Given the description of an element on the screen output the (x, y) to click on. 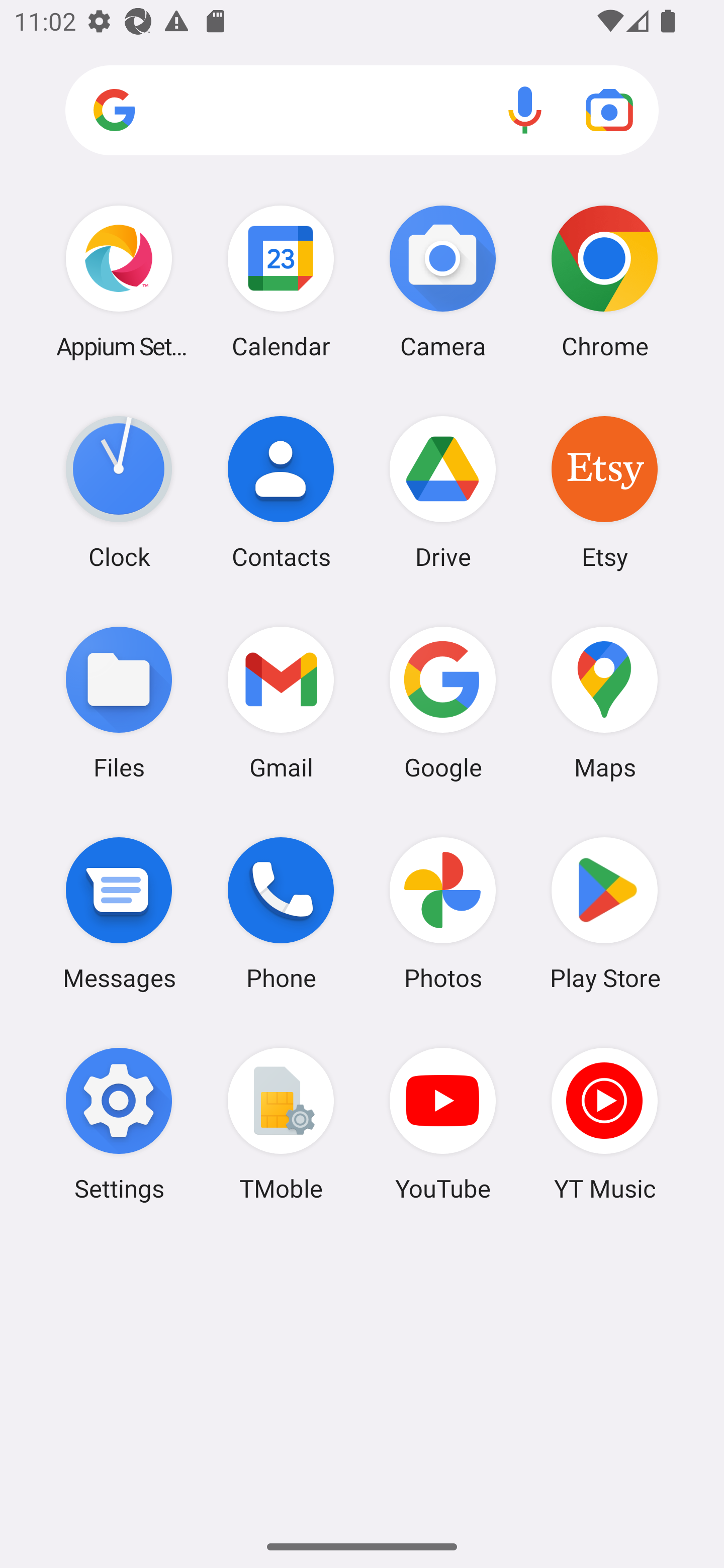
Search apps, web and more (361, 110)
Voice search (524, 109)
Google Lens (608, 109)
Appium Settings (118, 281)
Calendar (280, 281)
Camera (443, 281)
Chrome (604, 281)
Clock (118, 492)
Contacts (280, 492)
Drive (443, 492)
Etsy (604, 492)
Files (118, 702)
Gmail (280, 702)
Google (443, 702)
Maps (604, 702)
Messages (118, 913)
Phone (280, 913)
Photos (443, 913)
Play Store (604, 913)
Settings (118, 1124)
TMoble (280, 1124)
YouTube (443, 1124)
YT Music (604, 1124)
